Given the description of an element on the screen output the (x, y) to click on. 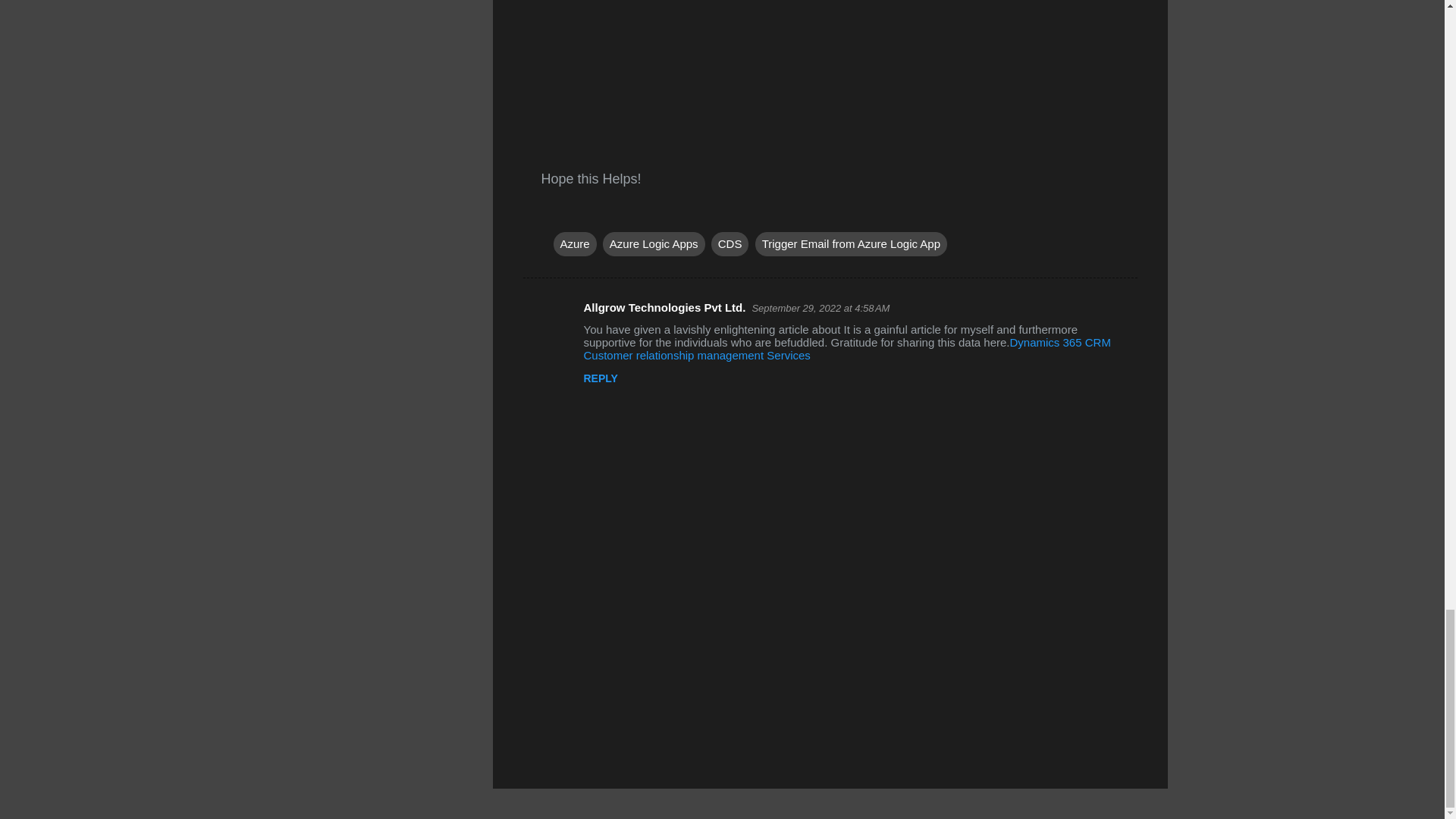
Allgrow Technologies Pvt Ltd. (664, 307)
REPLY (600, 378)
Trigger Email from Azure Logic App (851, 243)
Dynamics 365 CRM Customer relationship management Services (846, 348)
Azure Logic Apps (653, 243)
CDS (730, 243)
Azure (574, 243)
